Given the description of an element on the screen output the (x, y) to click on. 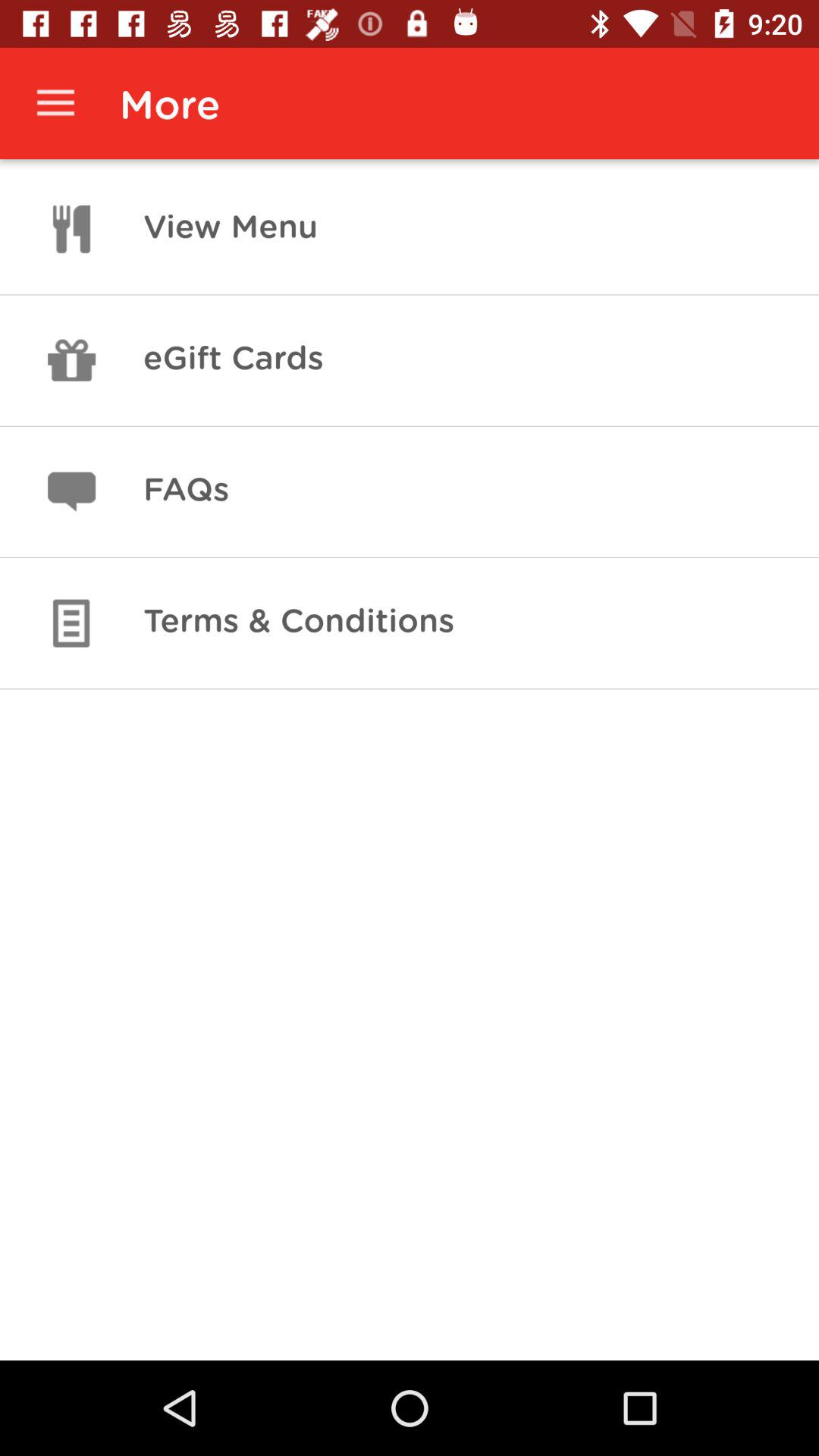
turn on item at the center (298, 622)
